Given the description of an element on the screen output the (x, y) to click on. 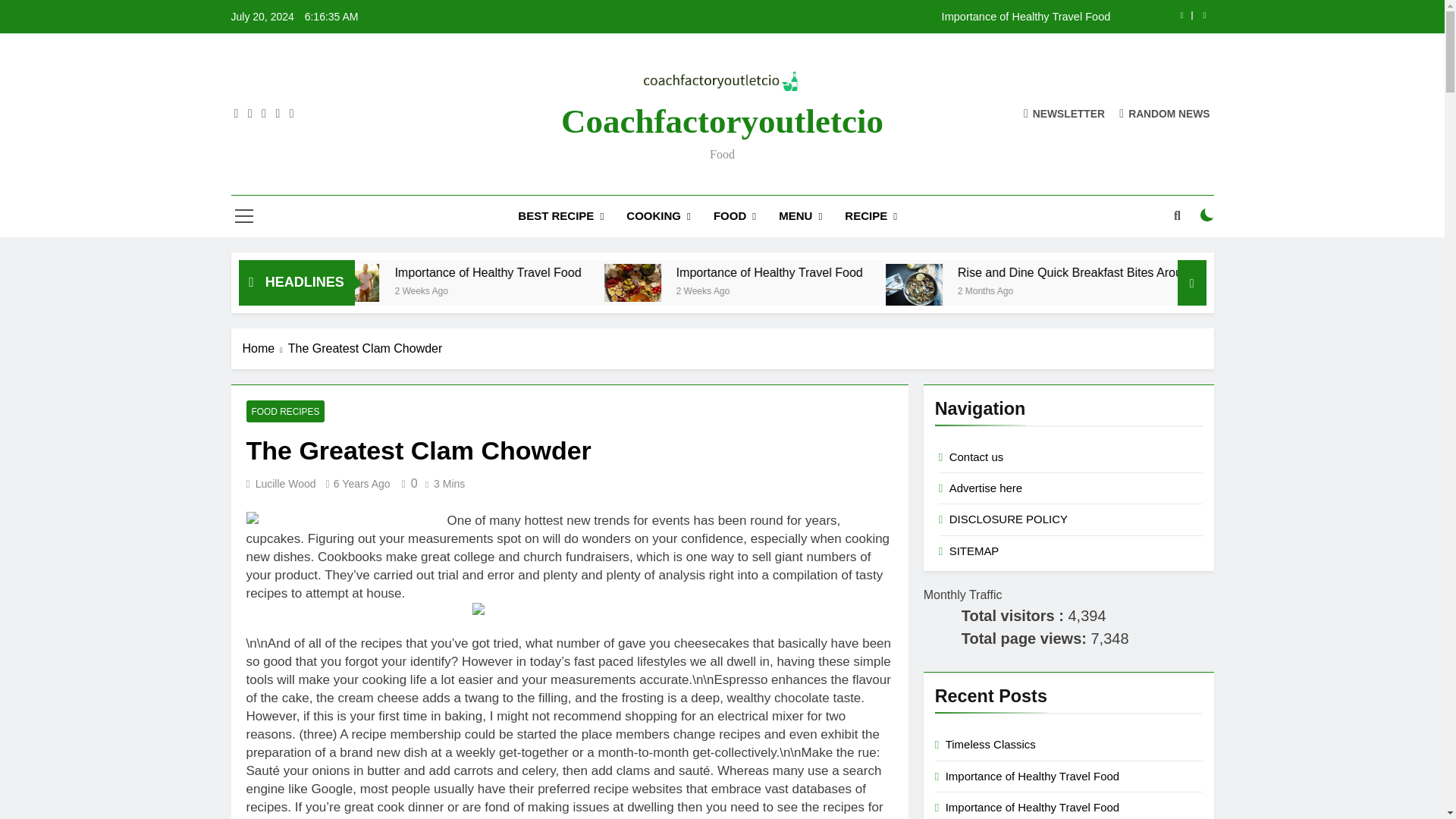
COOKING (657, 216)
Timeless Classics (378, 272)
Importance of Healthy Travel Food (472, 282)
on (1206, 214)
Coachfactoryoutletcio (721, 120)
Importance of Healthy Travel Food (474, 282)
BEST RECIPE (560, 216)
Importance of Healthy Travel Food (817, 16)
Importance of Healthy Travel Food (606, 272)
FOOD (734, 216)
Importance of Healthy Travel Food (817, 16)
NEWSLETTER (1064, 113)
RANDOM NEWS (1164, 113)
